Given the description of an element on the screen output the (x, y) to click on. 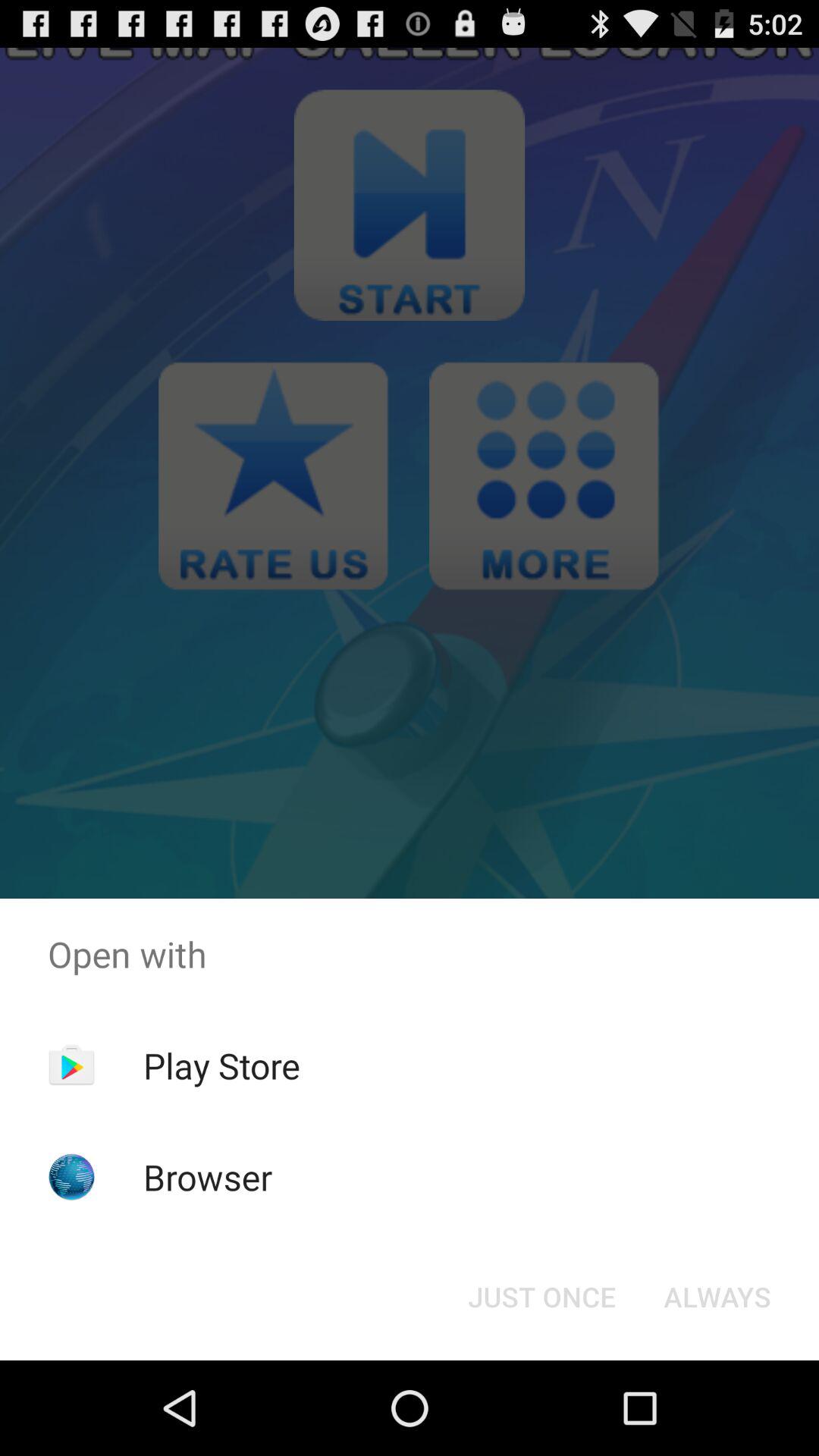
jump until the browser item (207, 1176)
